Given the description of an element on the screen output the (x, y) to click on. 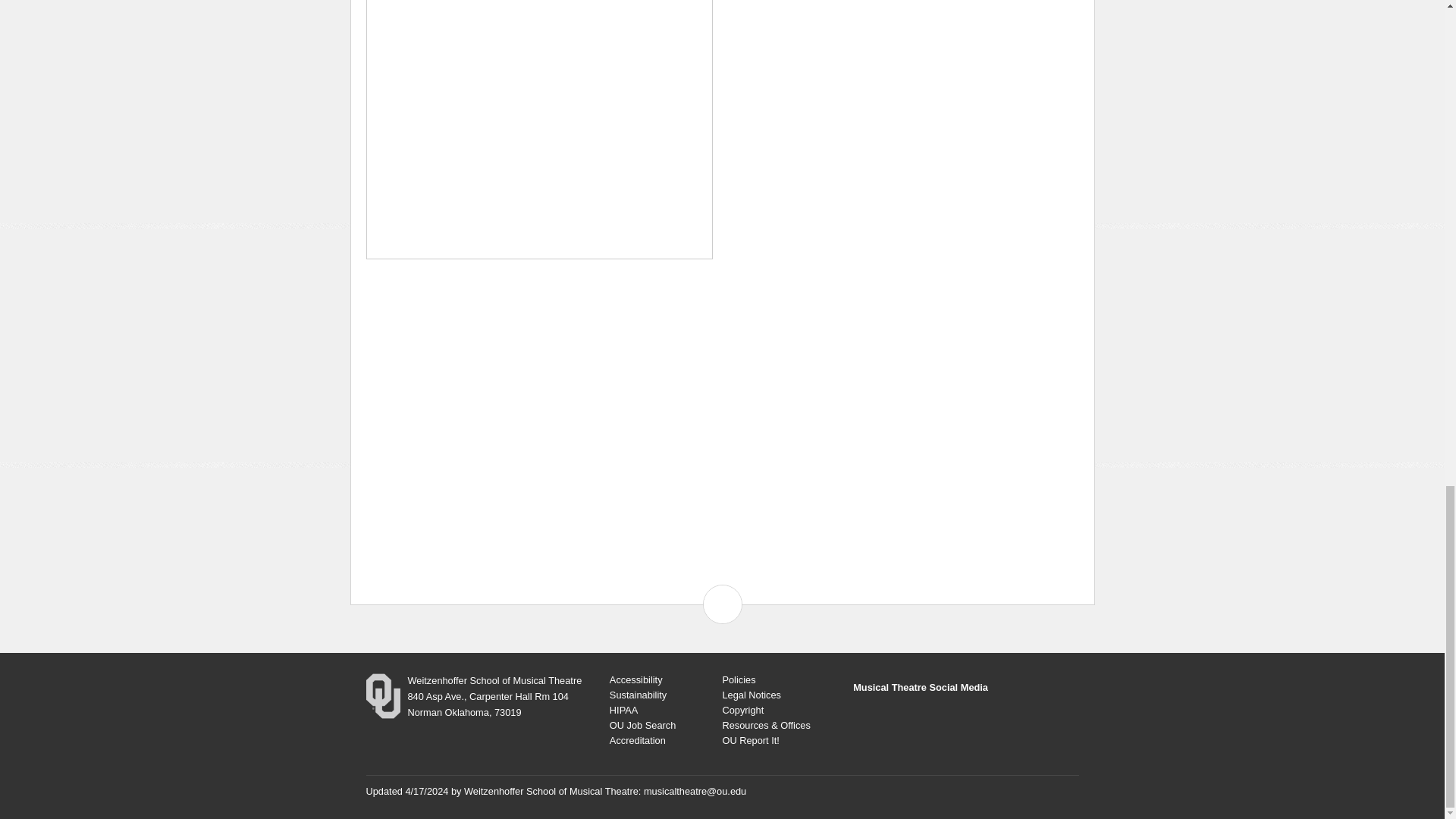
Weitzenhoffer School of Musical Theatre (494, 680)
Weitzenhoffer School of Musical Theatre (551, 790)
instagram (905, 719)
OU Report It! (750, 740)
Legal Notices (751, 695)
Accreditation (637, 740)
Accessibility (636, 679)
Copyright (742, 709)
more (975, 719)
HIPAA (623, 709)
youtube (940, 719)
Policies (738, 679)
facebook (870, 719)
OU Job Search (643, 725)
Sustainability (638, 695)
